Given the description of an element on the screen output the (x, y) to click on. 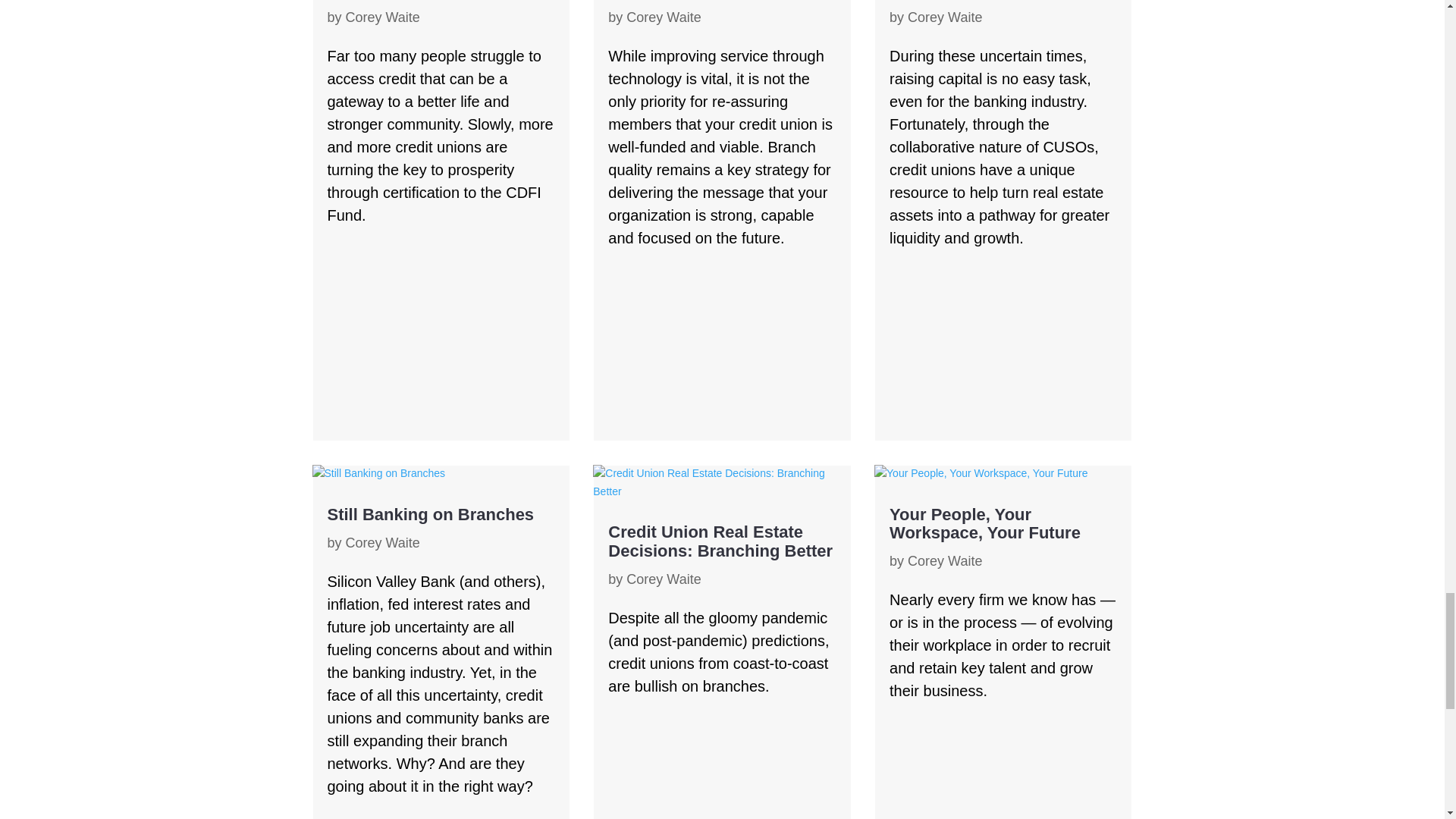
Posts by Corey Waite (663, 579)
Posts by Corey Waite (944, 560)
Posts by Corey Waite (944, 17)
Posts by Corey Waite (383, 542)
Posts by Corey Waite (383, 17)
Posts by Corey Waite (663, 17)
